Given the description of an element on the screen output the (x, y) to click on. 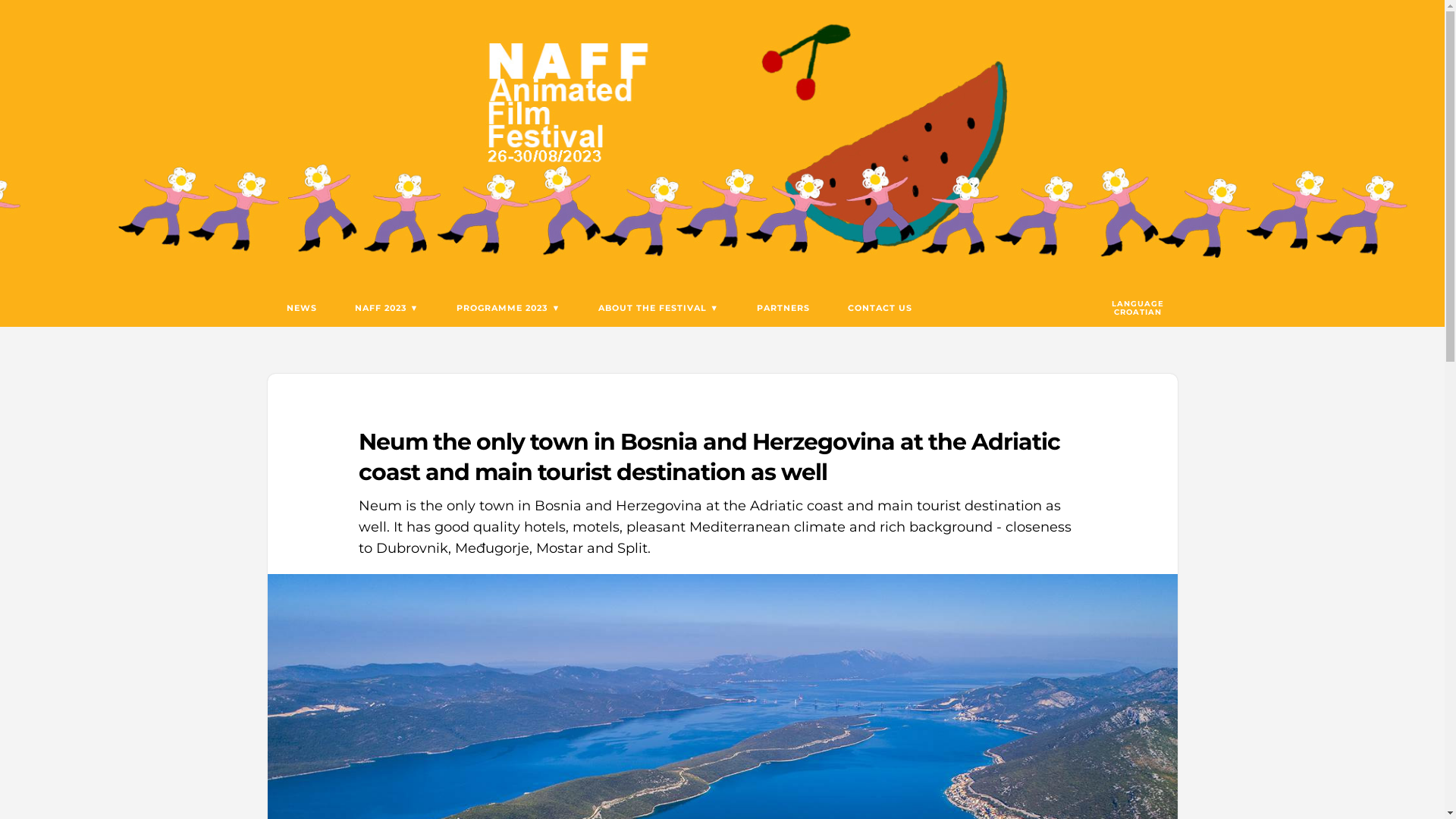
CONTACT US Element type: text (879, 307)
PARTNERS Element type: text (782, 307)
NEWS Element type: text (300, 307)
